Given the description of an element on the screen output the (x, y) to click on. 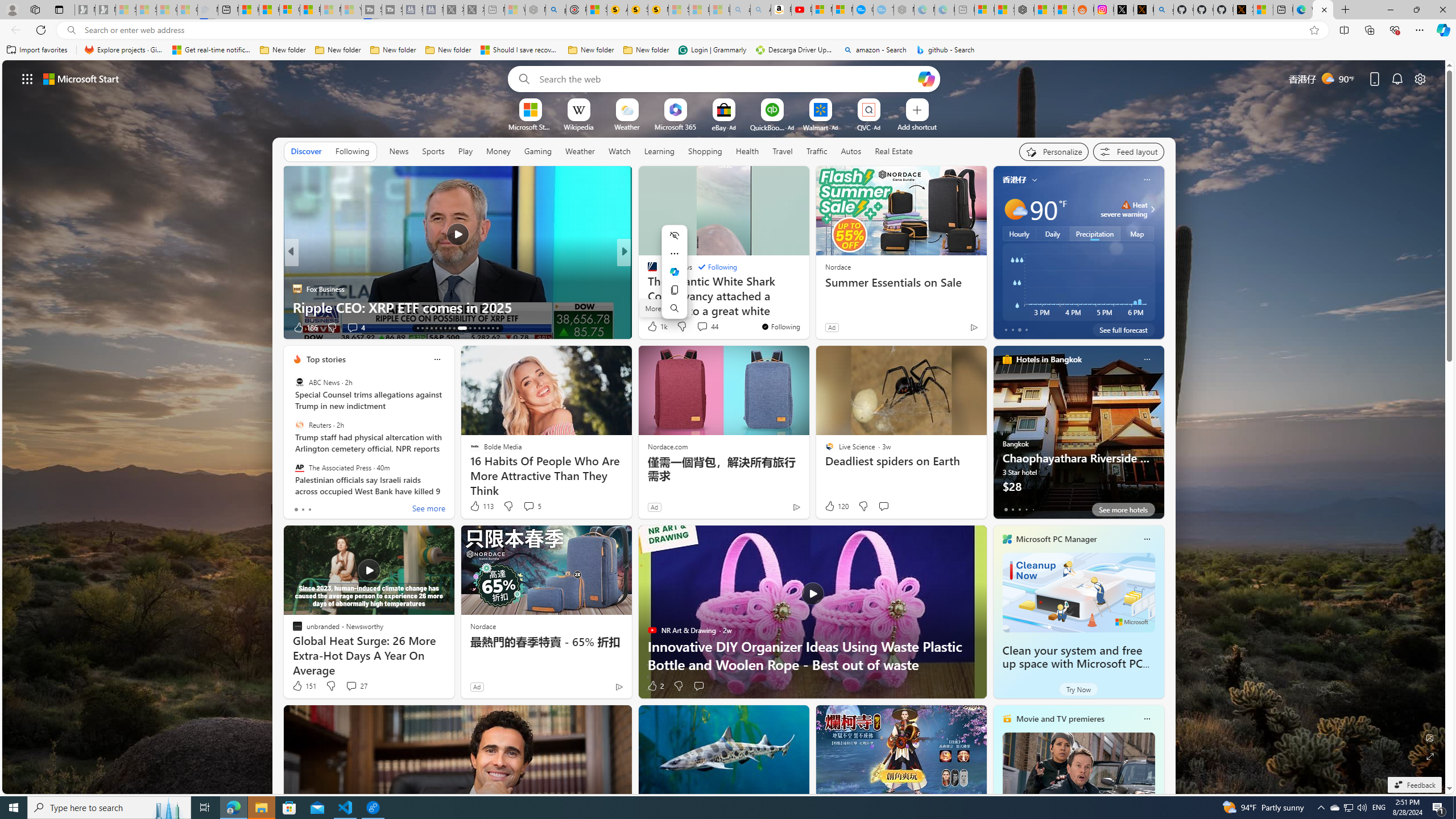
Add a site (916, 126)
Split screen (1344, 29)
Refresh (40, 29)
Microsoft 365 (675, 126)
Travel (782, 151)
Health (746, 151)
Forge of Empires (668, 288)
Streaming Coverage | T3 - Sleeping (371, 9)
Watch (619, 151)
Weather (579, 151)
